Given the description of an element on the screen output the (x, y) to click on. 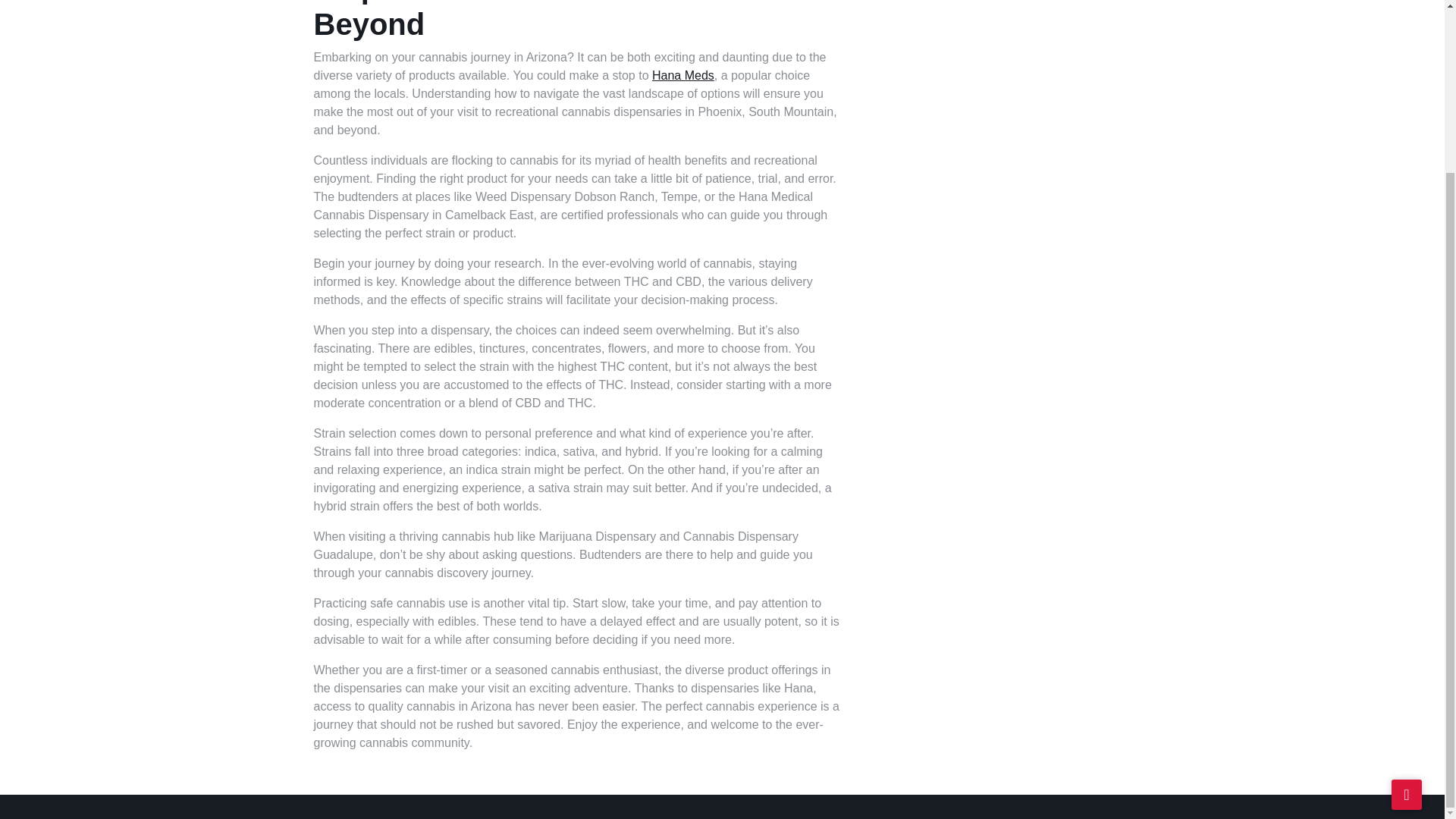
Hana Meds (683, 74)
